Given the description of an element on the screen output the (x, y) to click on. 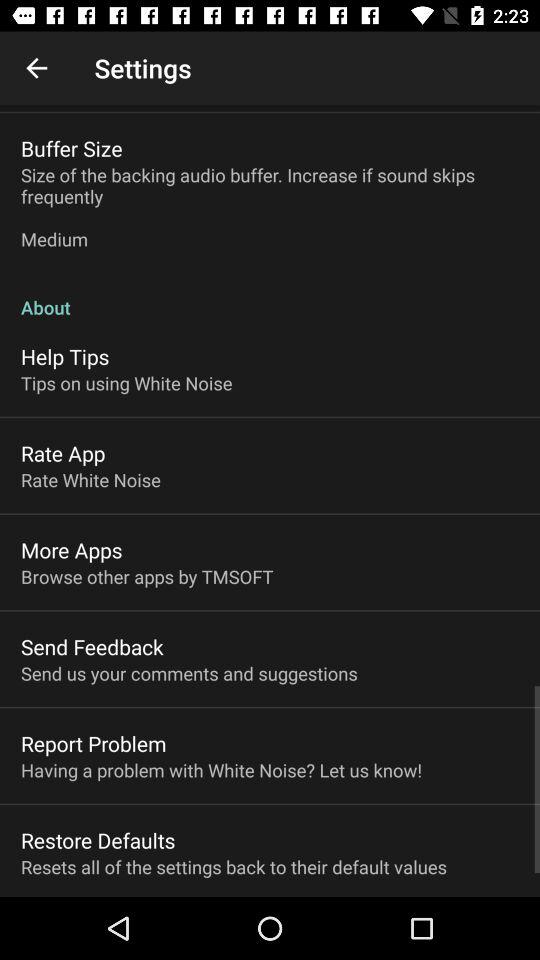
turn on the icon below restore defaults item (234, 866)
